Given the description of an element on the screen output the (x, y) to click on. 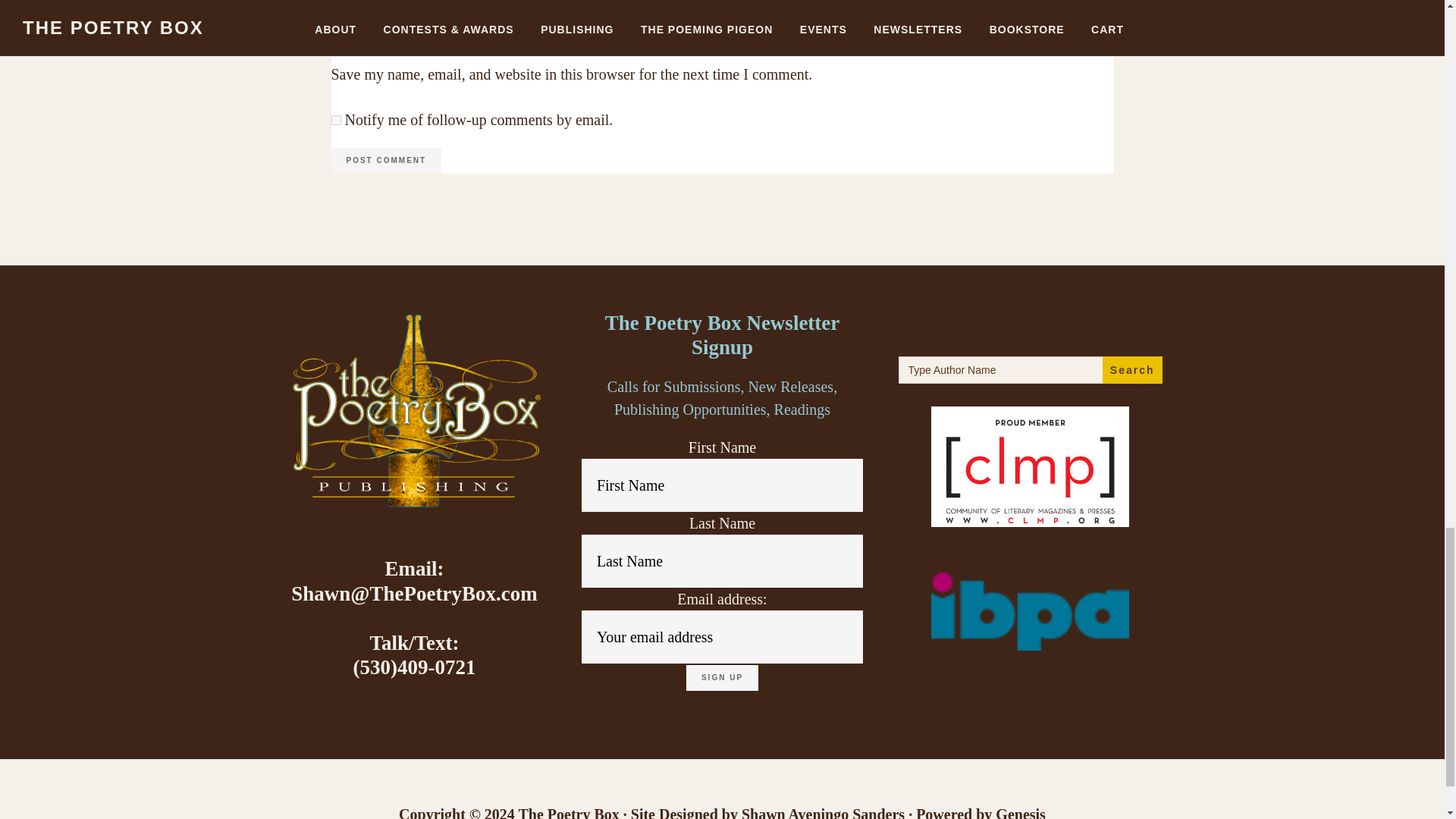
Search (1131, 370)
Post Comment (385, 160)
subscribe (335, 120)
Sign up (721, 678)
yes (335, 51)
Search (1131, 370)
